Given the description of an element on the screen output the (x, y) to click on. 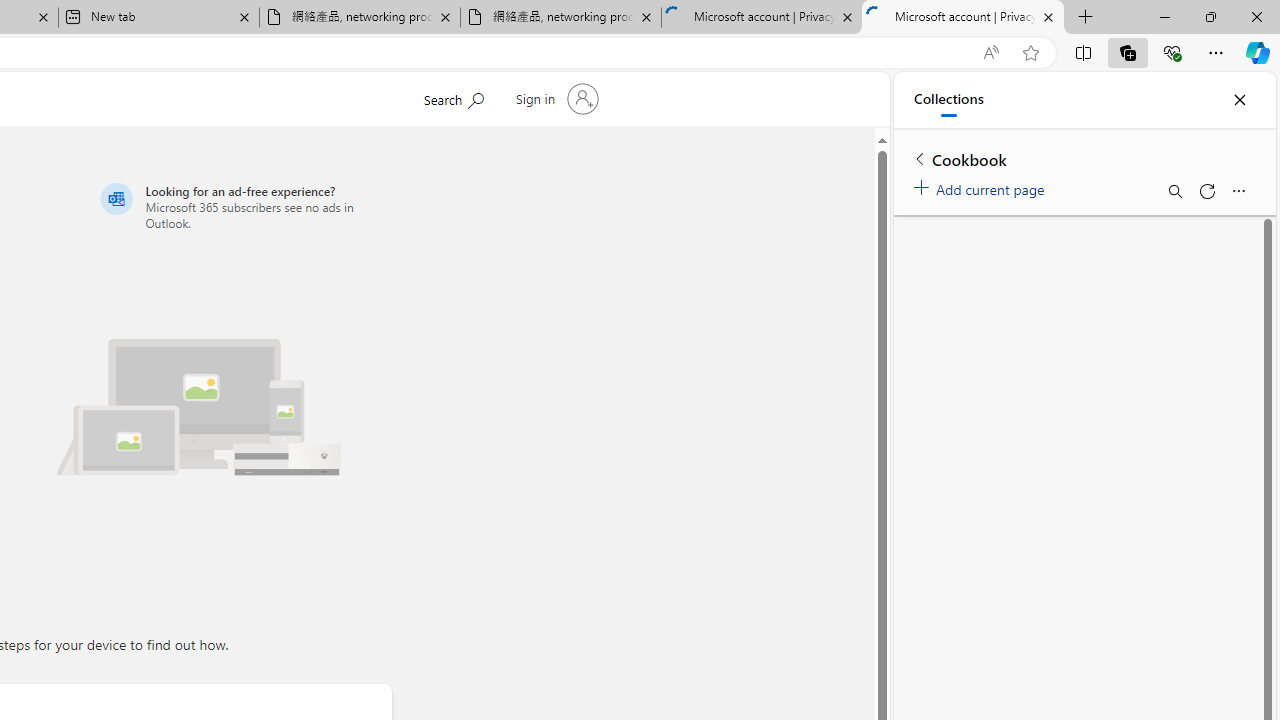
Add current page (982, 186)
More options menu (1238, 190)
Back to list of collections (920, 158)
